Given the description of an element on the screen output the (x, y) to click on. 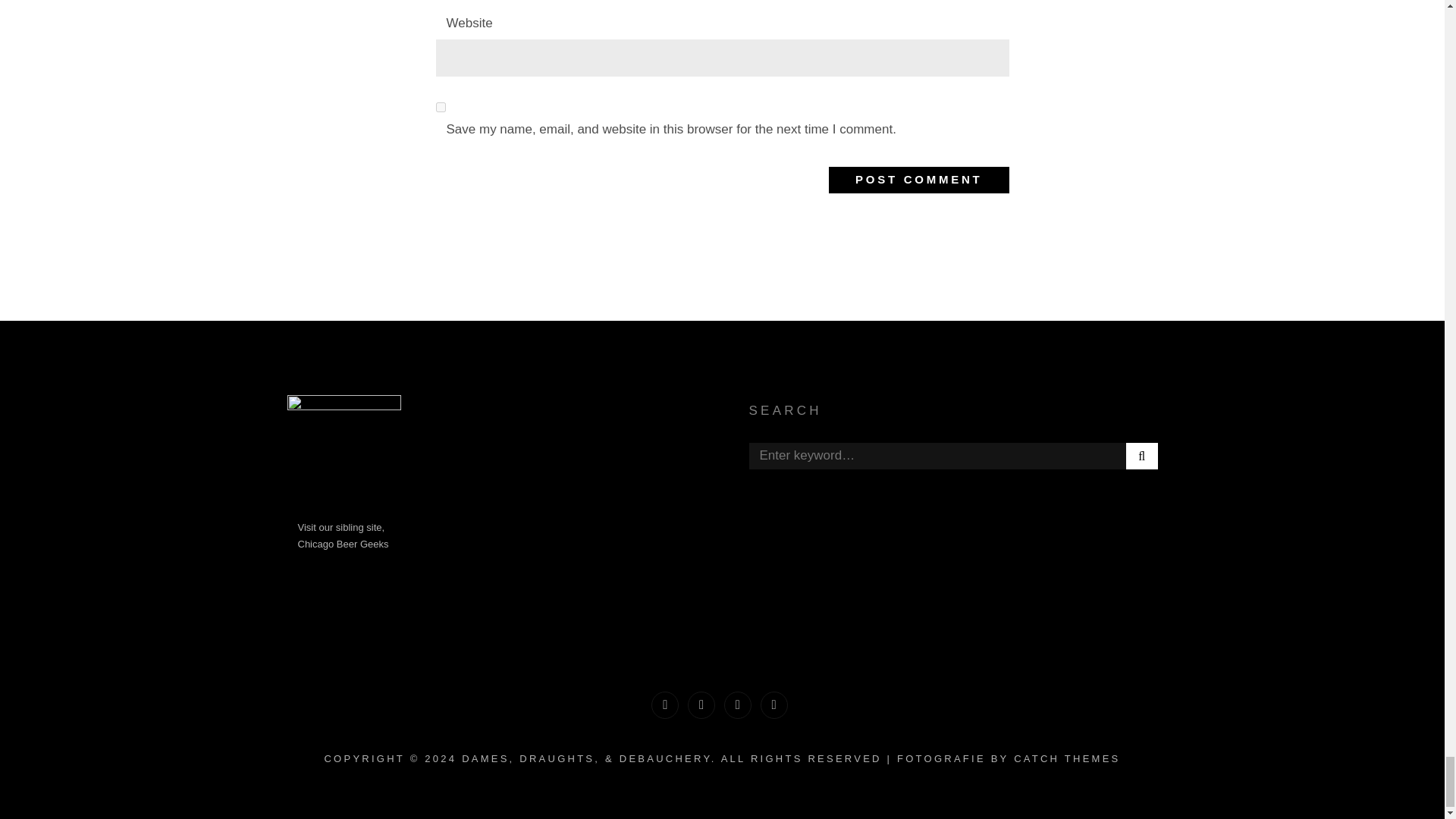
Facebook (664, 705)
yes (440, 107)
Instagram (737, 705)
SEARCH (1141, 456)
Post Comment (918, 180)
Twitter (700, 705)
Post Comment (918, 180)
Email (773, 705)
